Given the description of an element on the screen output the (x, y) to click on. 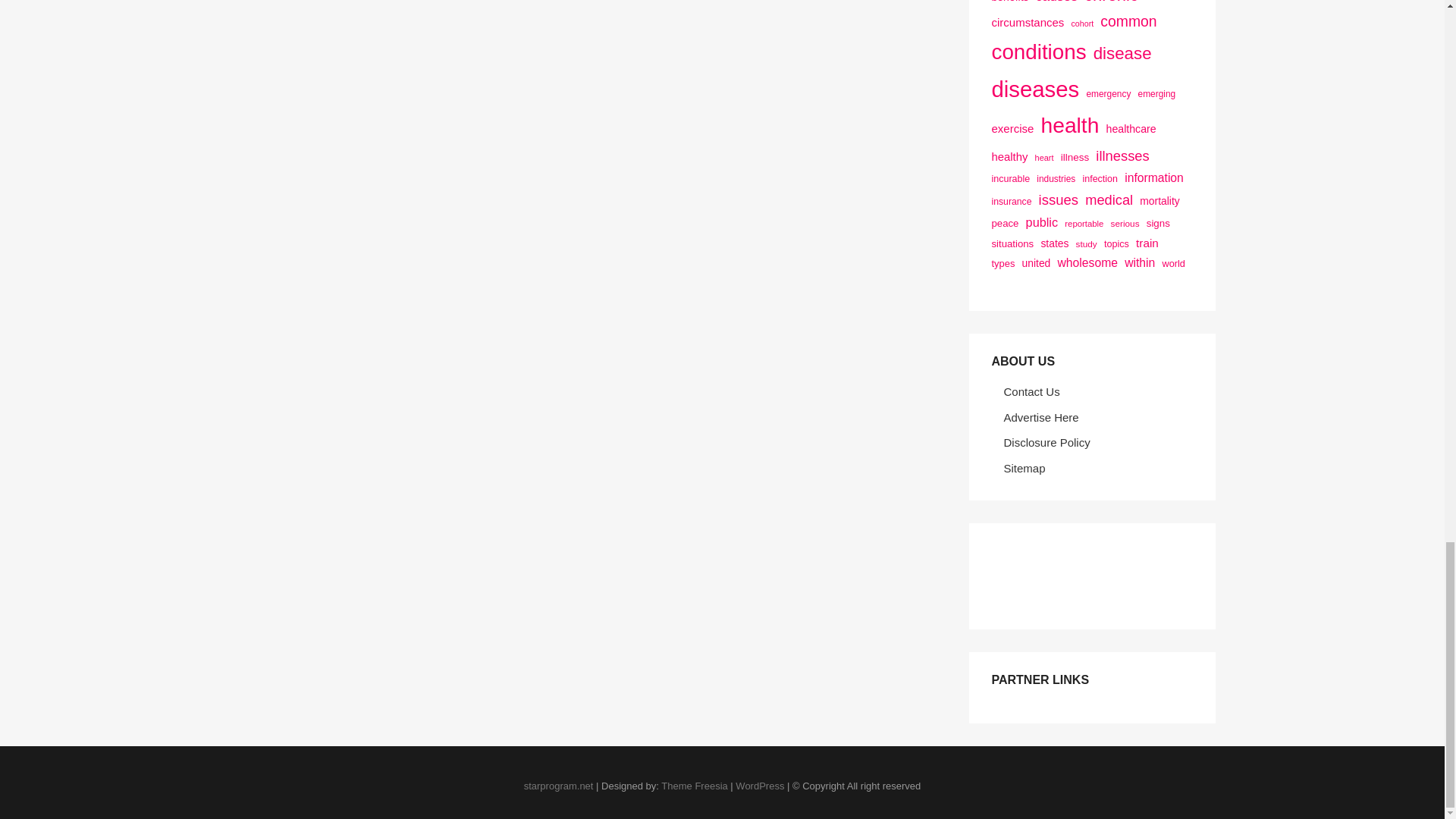
Theme Freesia (693, 785)
starprogram.net (559, 785)
WordPress (759, 785)
